Given the description of an element on the screen output the (x, y) to click on. 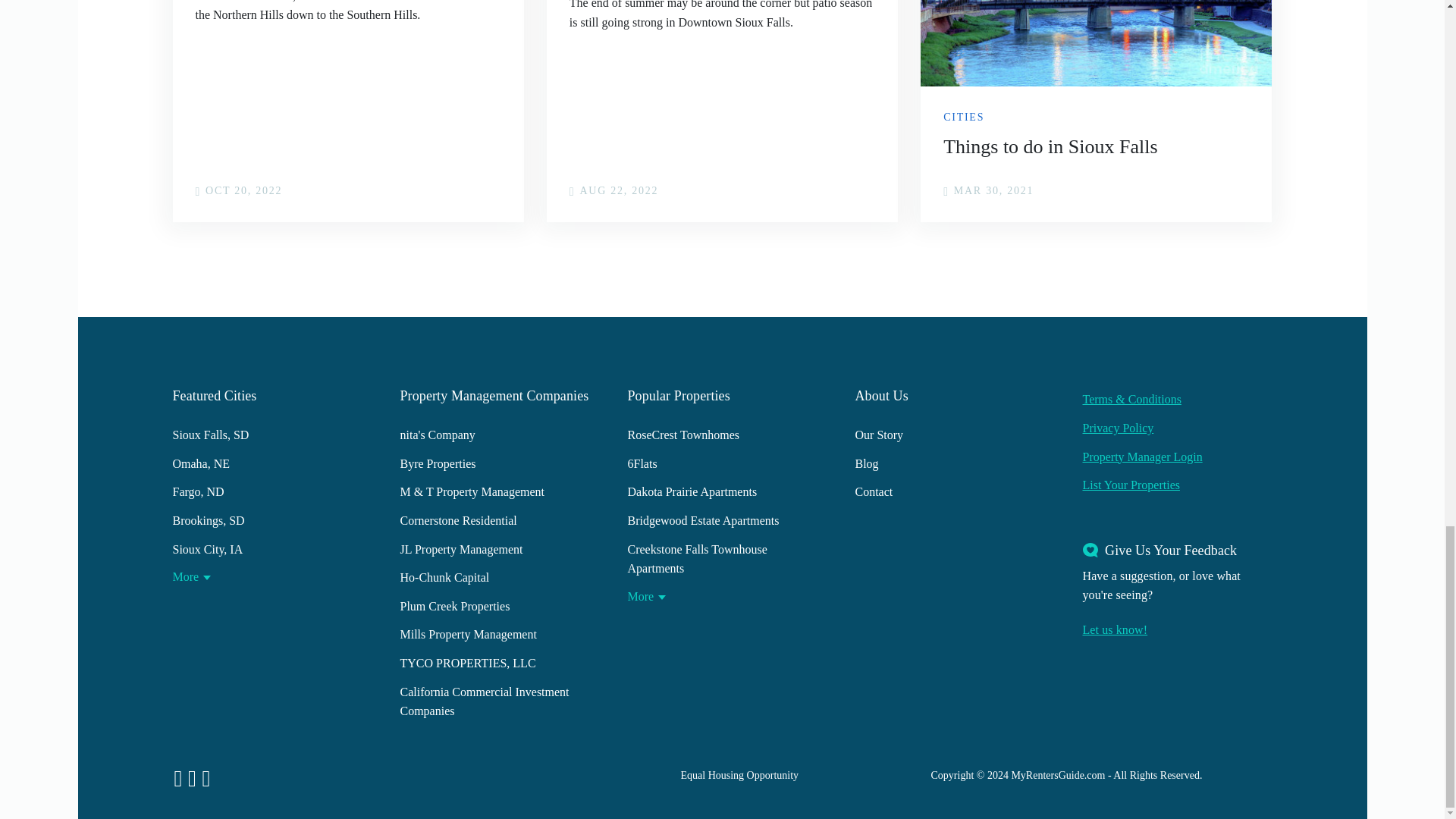
Share On Facebook (822, 191)
Share On Facebook (449, 191)
Share via Email (869, 191)
5 Local Favorite Patios in Downtown Sioux Falls (722, 111)
Share via Email (494, 191)
Share via Email (1242, 191)
Fall in Love with the Black Hills (348, 111)
Share On Twitter (1219, 191)
Things to do in Sioux Falls (1095, 111)
Share On Facebook (1197, 191)
Share On Twitter (472, 191)
Share On Twitter (845, 191)
